Given the description of an element on the screen output the (x, y) to click on. 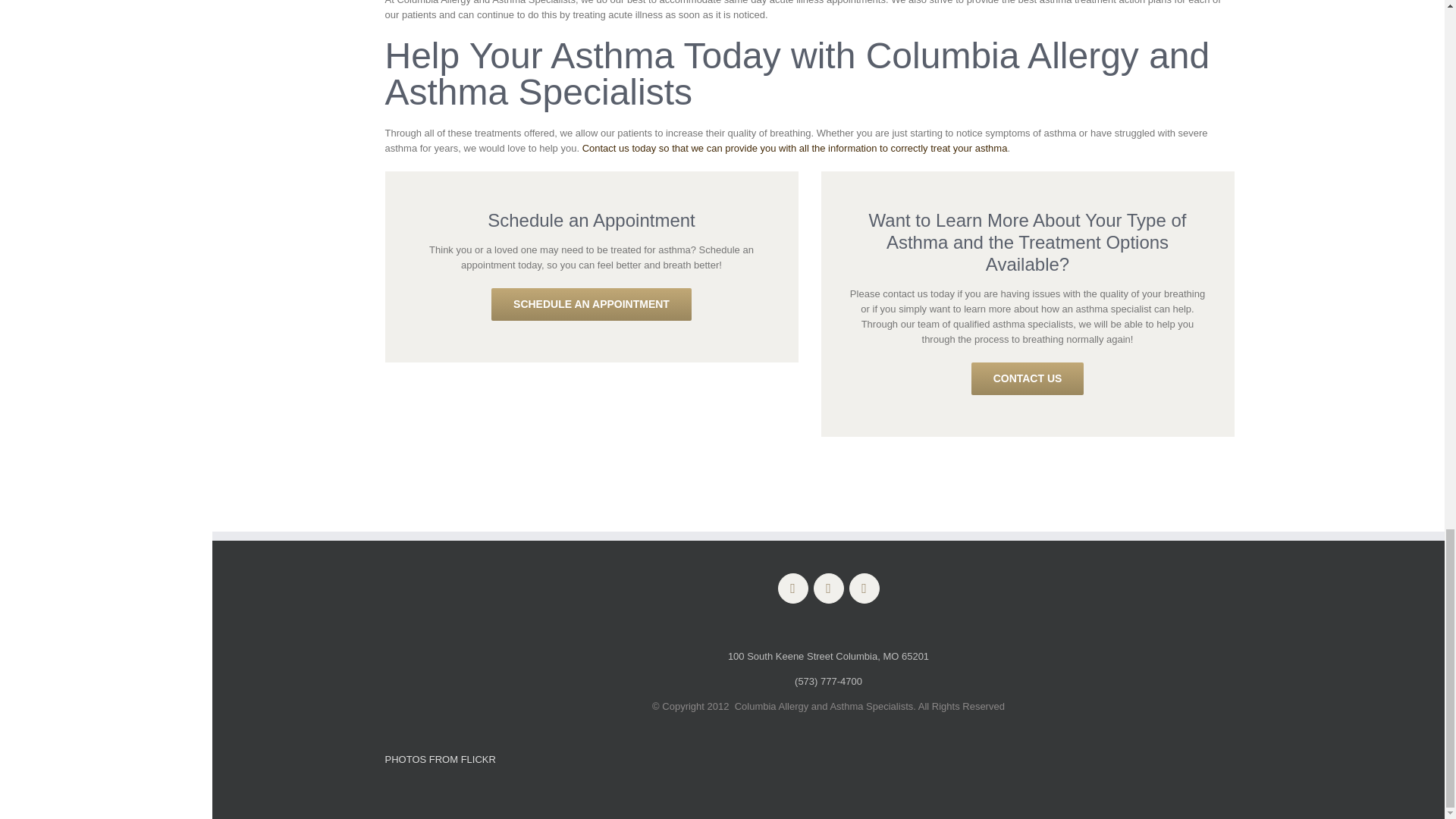
Twitter (827, 588)
Facebook (792, 588)
Instagram (863, 588)
